Given the description of an element on the screen output the (x, y) to click on. 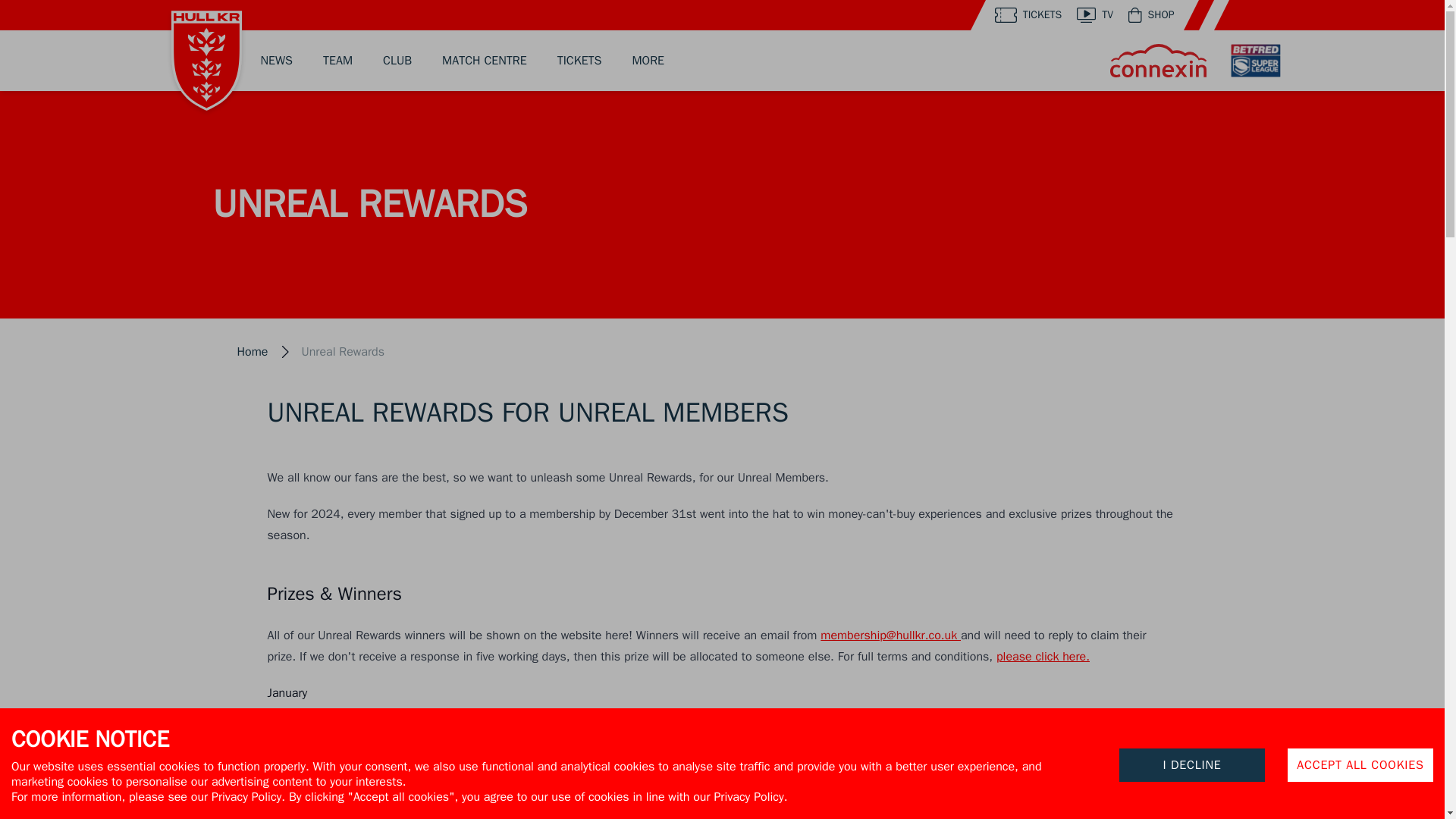
I DECLINE (1192, 765)
CLUB (397, 60)
Privacy Policy. (750, 796)
TV (1095, 14)
TICKETS (579, 60)
TICKETS (1028, 14)
MATCH CENTRE (484, 60)
TEAM (337, 60)
Privacy Policy. (248, 796)
NEWS (277, 60)
